Given the description of an element on the screen output the (x, y) to click on. 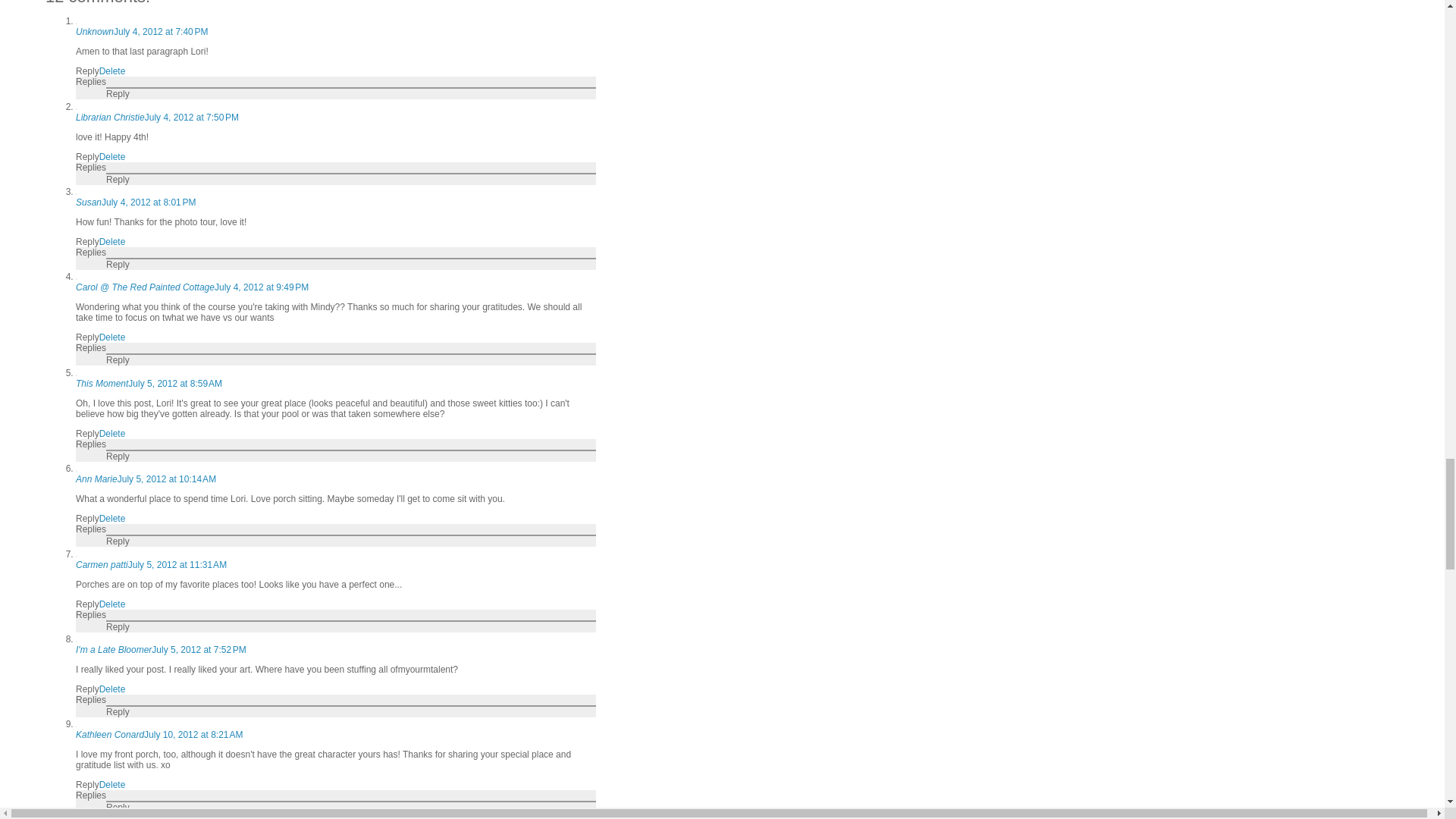
Delete (112, 71)
Replies (90, 81)
Reply (117, 179)
Librarian Christie (109, 117)
Reply (117, 93)
Delete (112, 156)
Unknown (94, 31)
Reply (87, 156)
Replies (90, 167)
Reply (87, 71)
